Given the description of an element on the screen output the (x, y) to click on. 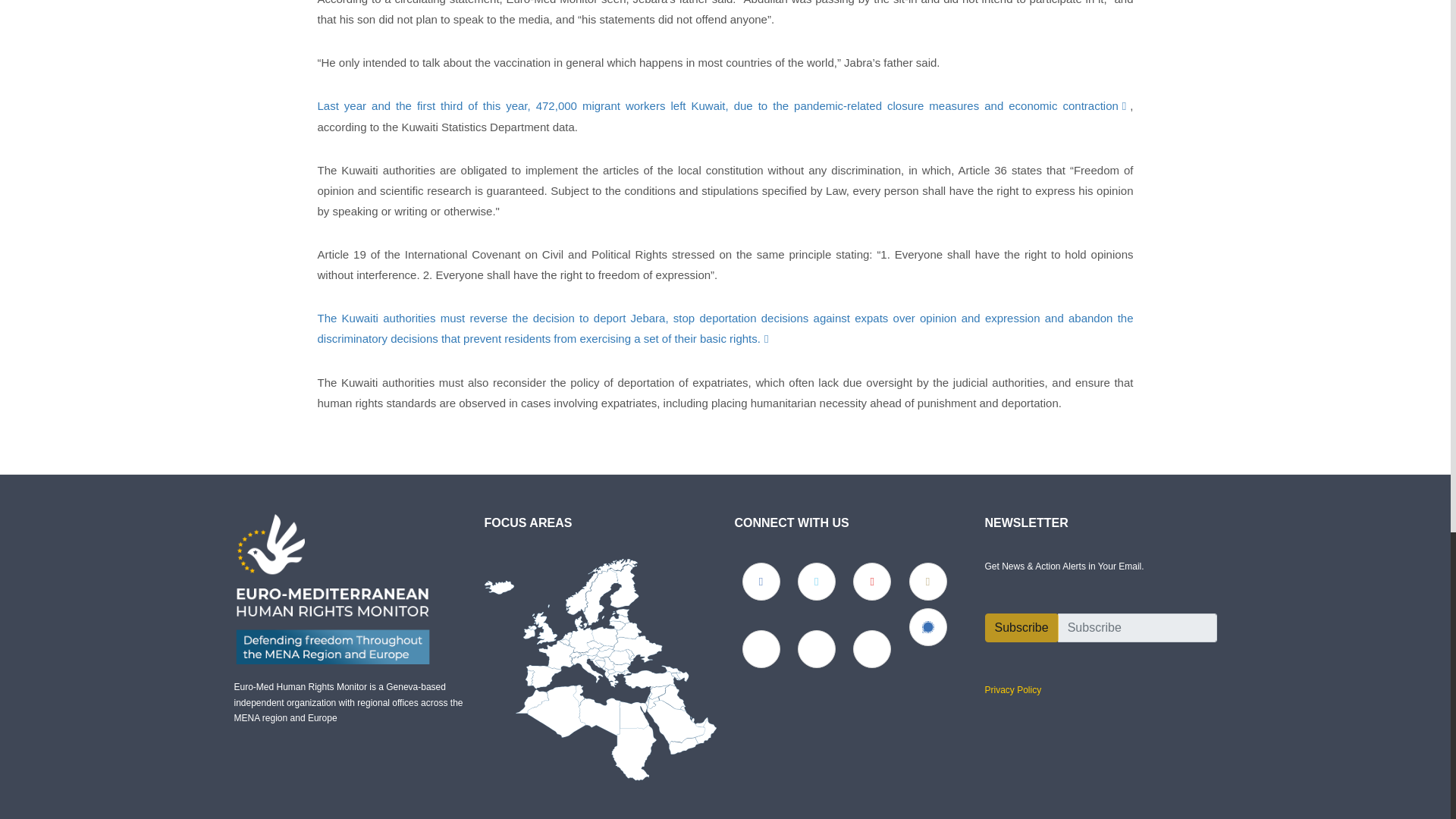
Privacy Policy (1012, 689)
